Given the description of an element on the screen output the (x, y) to click on. 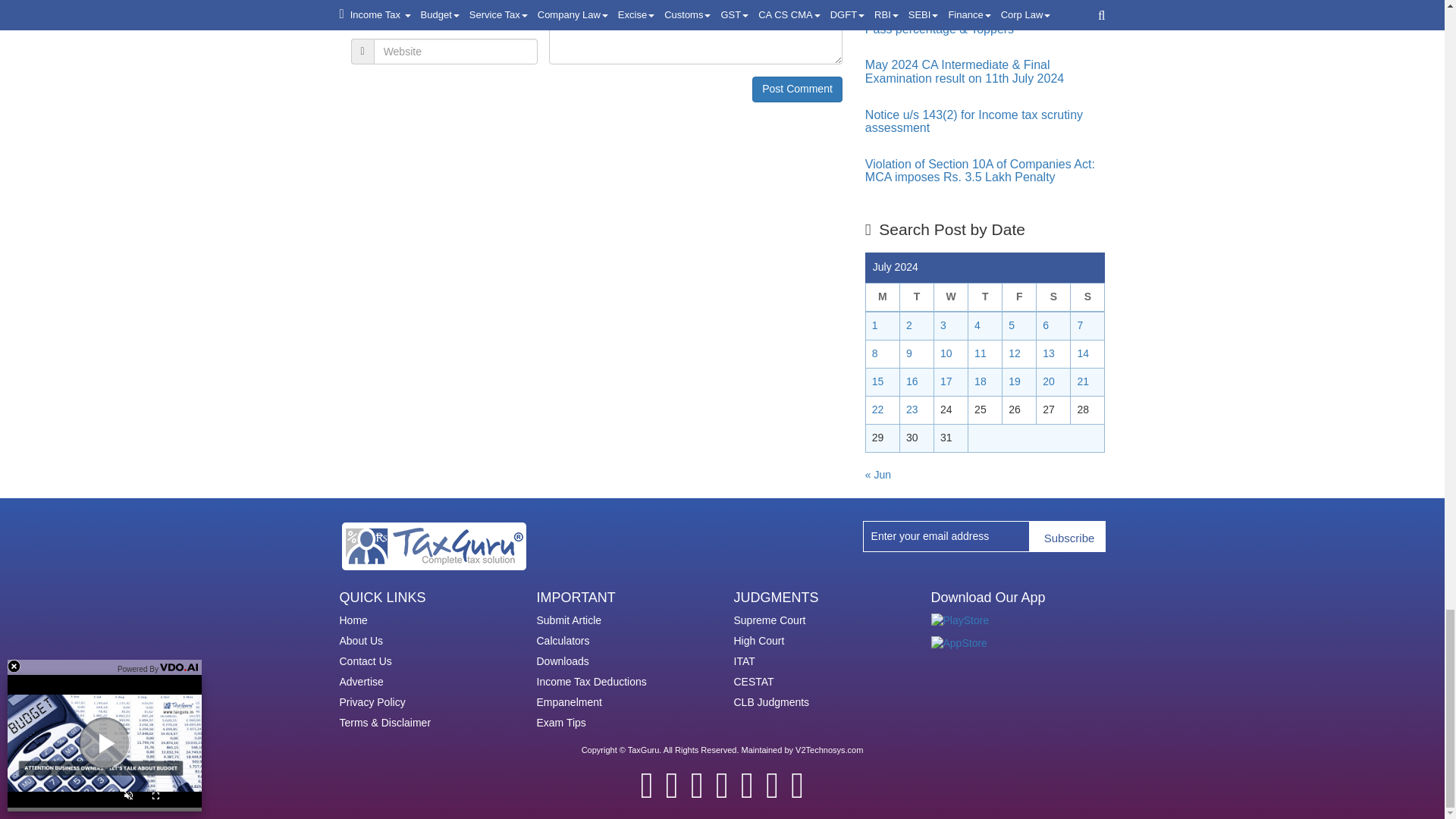
Subscribe (1067, 536)
